Given the description of an element on the screen output the (x, y) to click on. 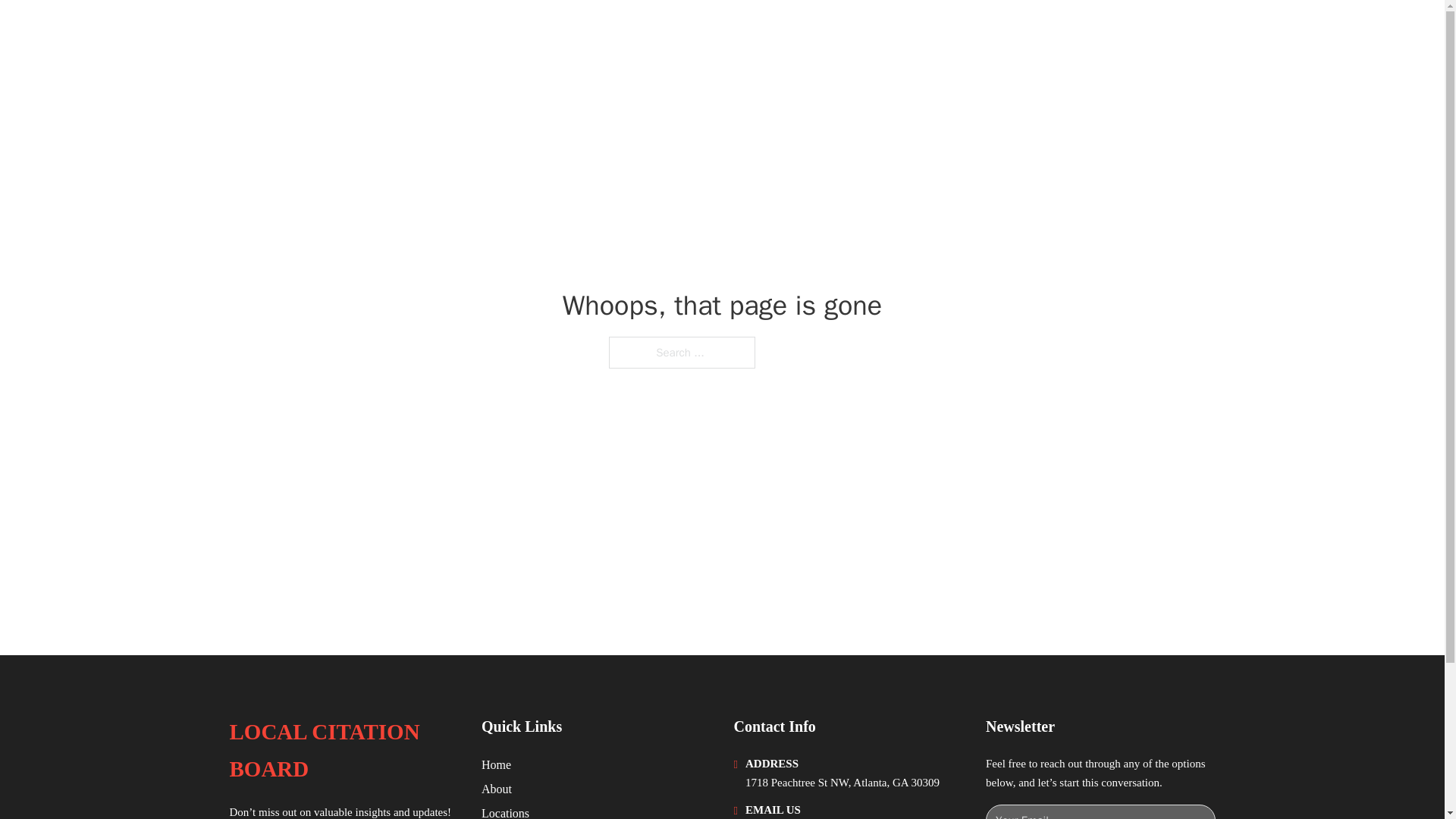
LOCATIONS (1098, 31)
Locations (505, 811)
LOCAL CITATION BOARD (380, 31)
Home (496, 764)
About (496, 788)
LOCAL CITATION BOARD (343, 750)
HOME (1025, 31)
